Given the description of an element on the screen output the (x, y) to click on. 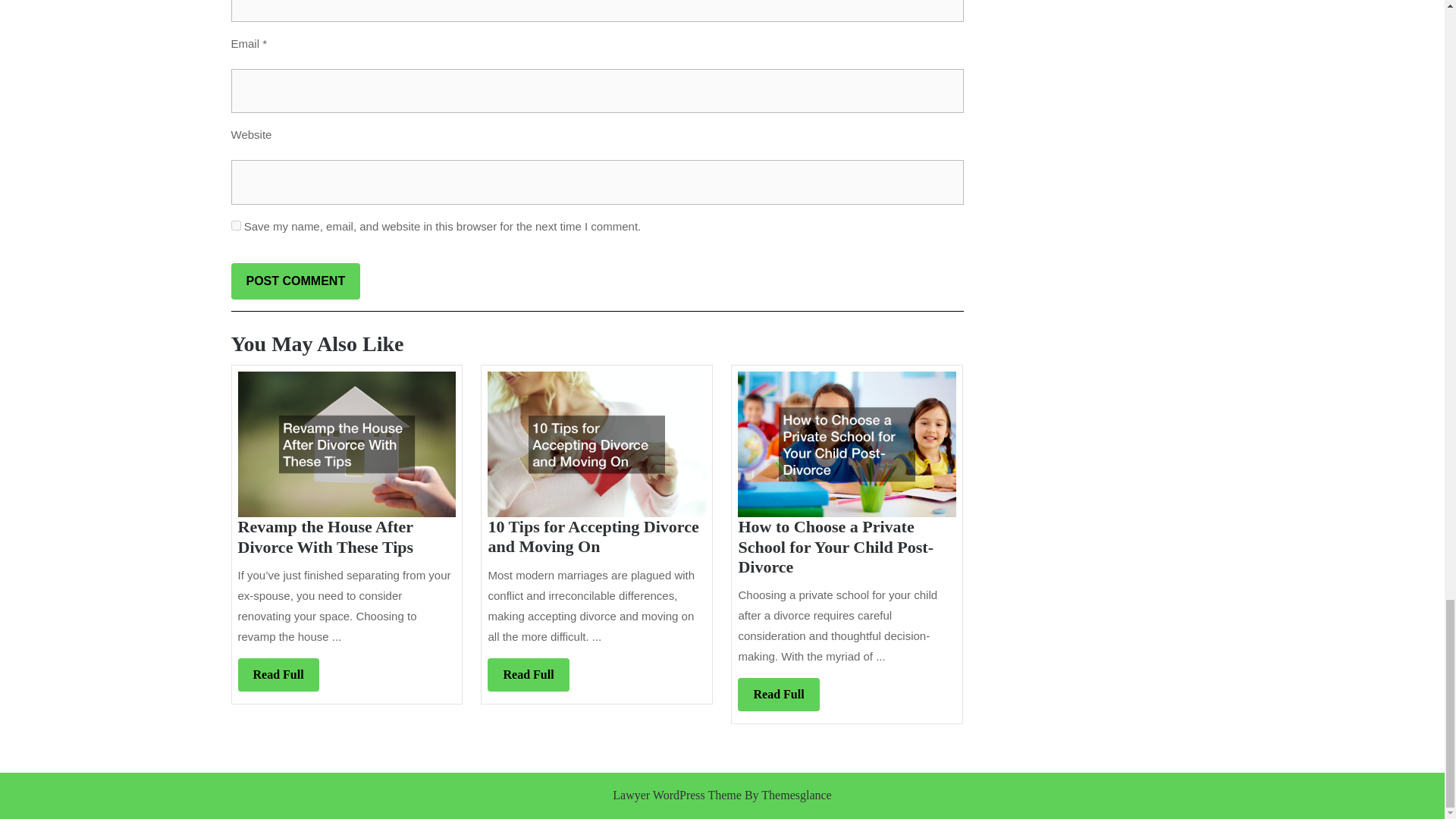
Post Comment (294, 281)
Post Comment (294, 281)
Lawyer WordPress Theme (278, 674)
yes (676, 794)
